Given the description of an element on the screen output the (x, y) to click on. 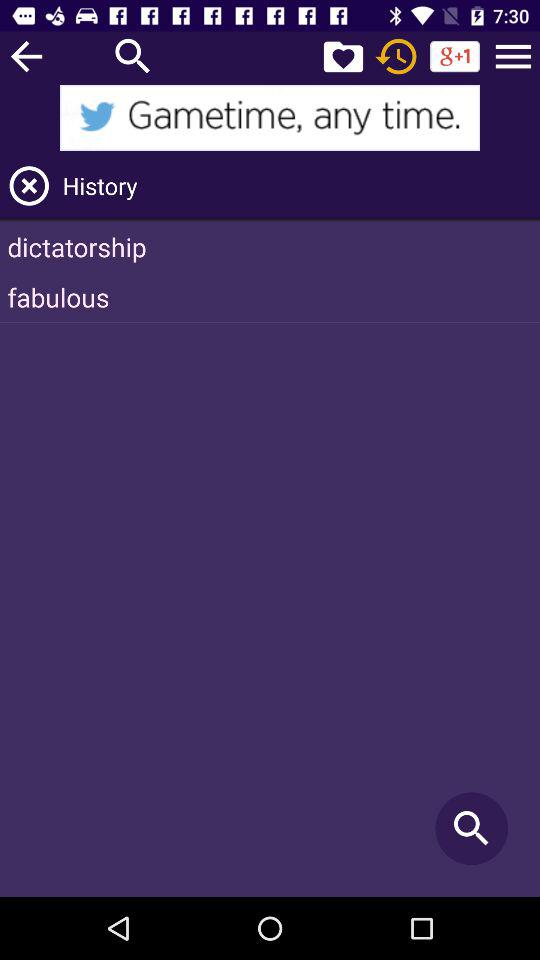
history (396, 56)
